Given the description of an element on the screen output the (x, y) to click on. 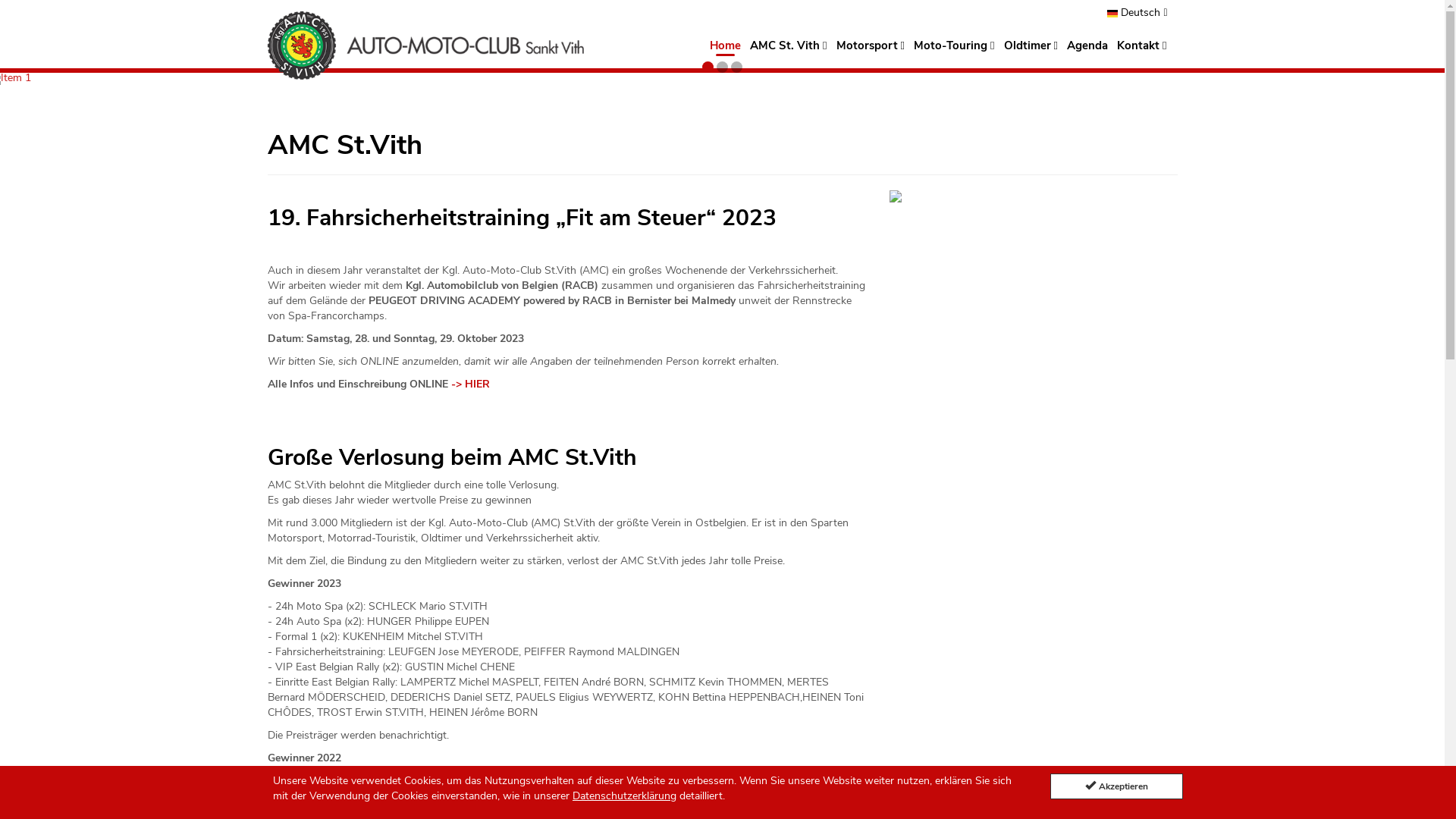
Auto-Moto-Club St. Vith Element type: hover (430, 45)
Home Element type: text (725, 46)
Kontakt Element type: text (1141, 45)
Oldtimer Element type: text (1030, 45)
Akzeptieren Element type: text (1116, 786)
Agenda Element type: text (1087, 45)
AMC St. Vith Element type: text (788, 45)
Moto-Touring Element type: text (953, 45)
Deutsch Element type: text (1136, 12)
Motorsport Element type: text (870, 45)
-> HIER Element type: text (469, 383)
